Given the description of an element on the screen output the (x, y) to click on. 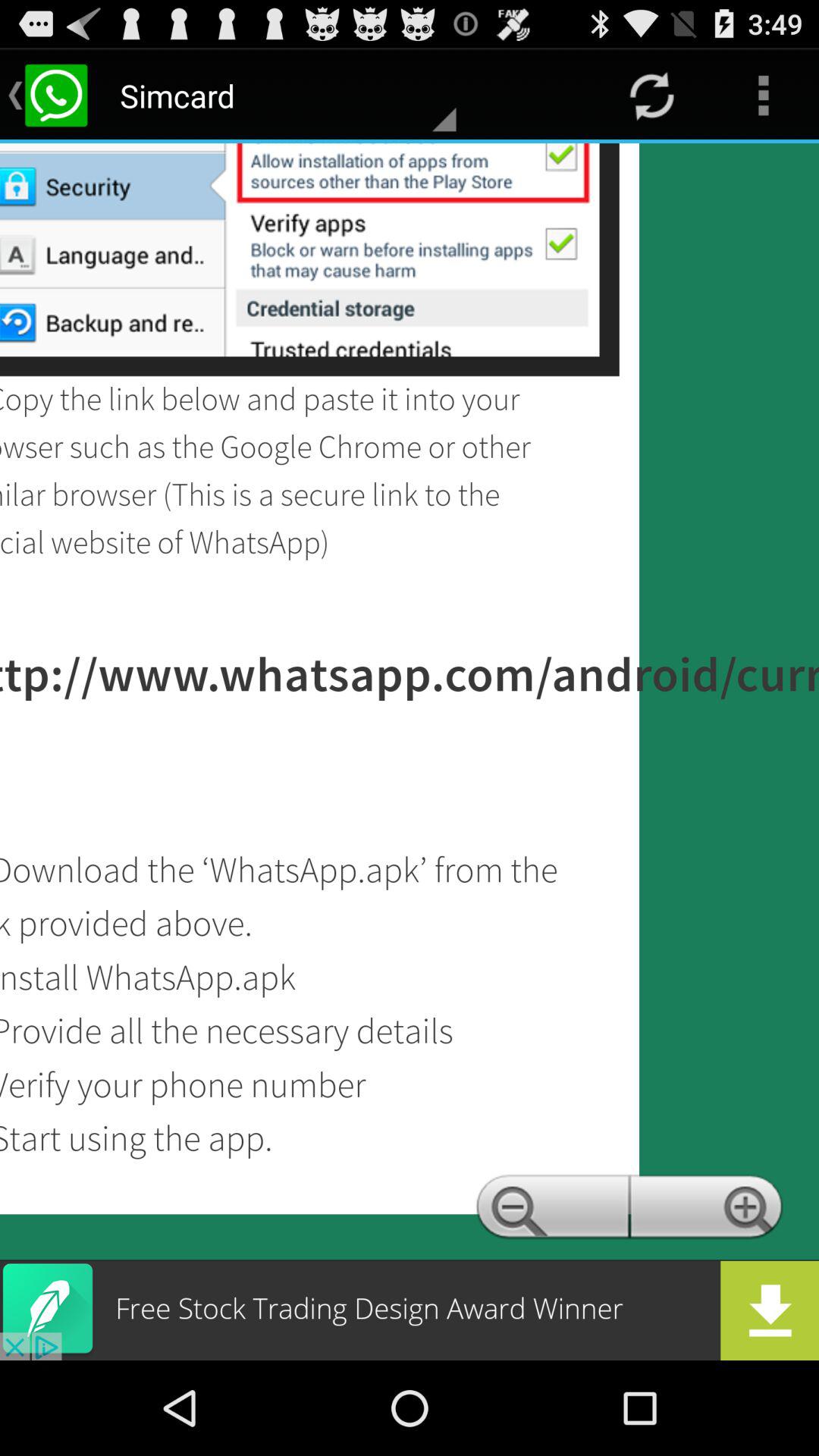
view advertisements (409, 1310)
